Given the description of an element on the screen output the (x, y) to click on. 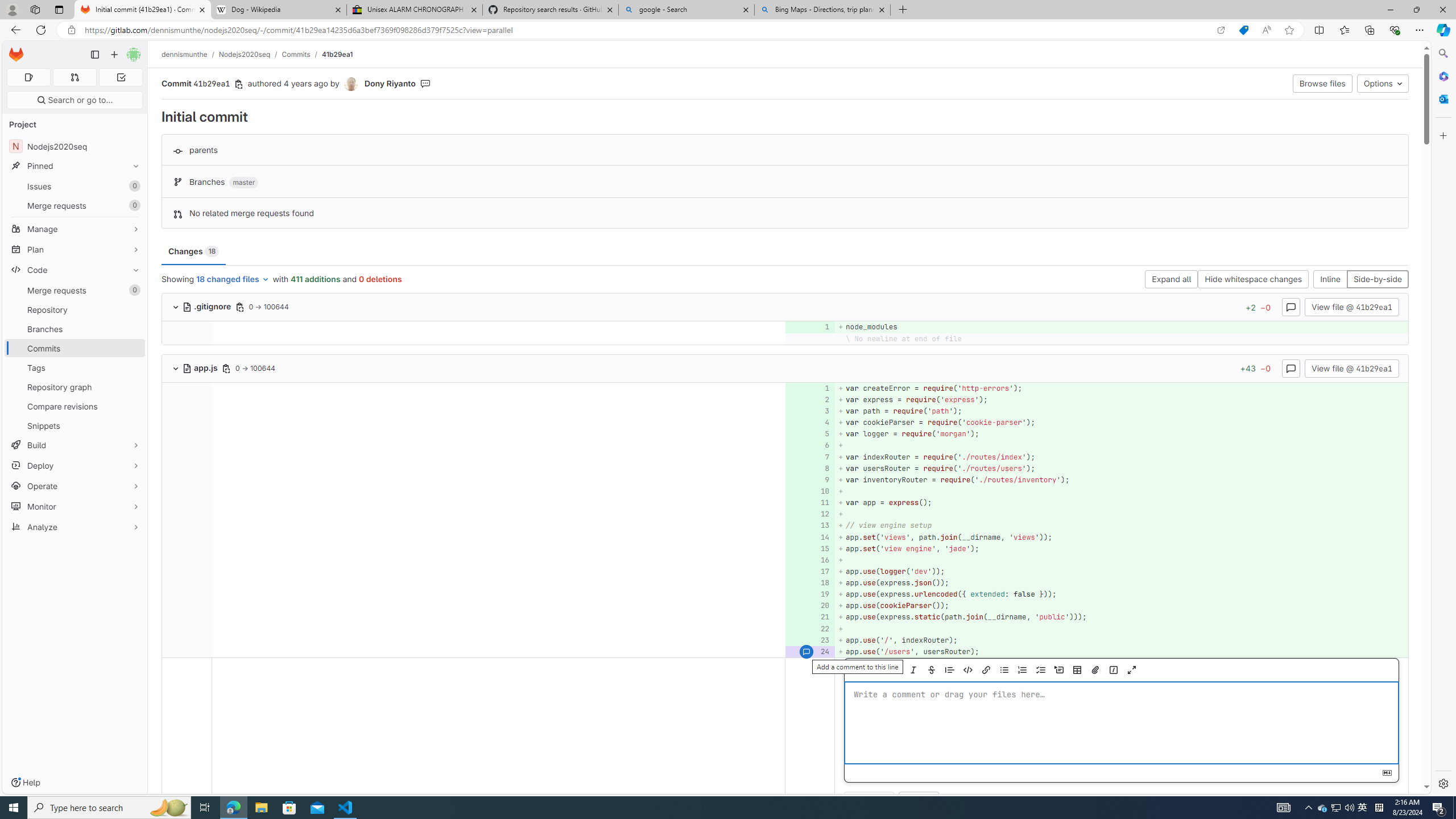
Pin Repository (132, 309)
Add a comment to this line 2 (809, 399)
Add a bullet list (1004, 670)
24 (808, 651)
4 (808, 422)
Add a comment to this line 1 (809, 387)
To-Do list 0 (120, 76)
5 (808, 434)
+ // view engine setup  (1120, 525)
Nodejs2020seq/ (250, 53)
Add a comment to this line 18 (809, 582)
Plan (74, 248)
Merge requests 0 (74, 289)
